Given the description of an element on the screen output the (x, y) to click on. 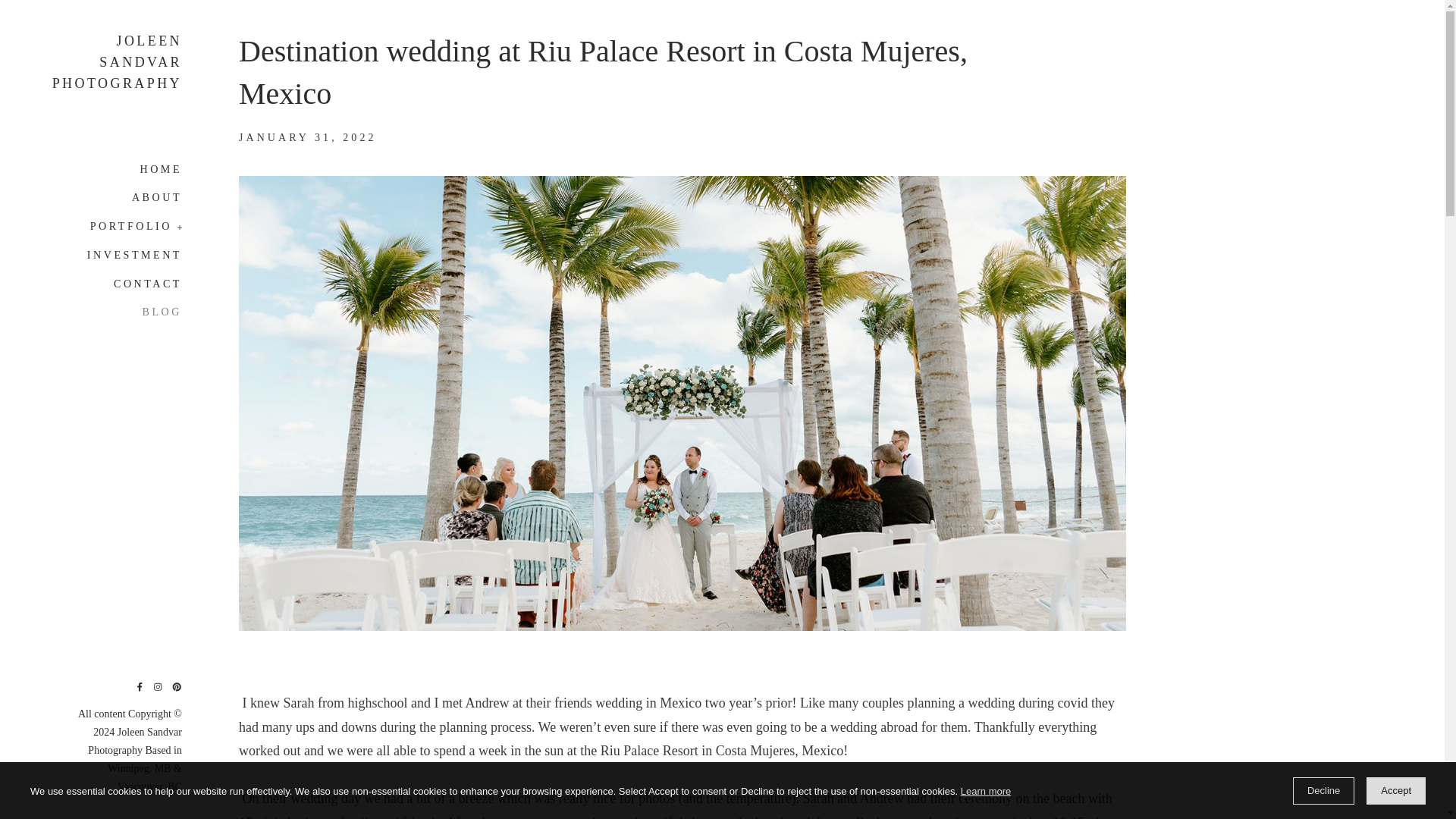
CONTACT (147, 283)
HOME (160, 172)
Learn more (985, 791)
Accept (1396, 790)
JOLEEN SANDVAR PHOTOGRAPHY (113, 62)
Decline (1323, 790)
BLOG (162, 307)
ABOUT (157, 196)
INVESTMENT (134, 254)
PORTFOLIO (136, 225)
